Given the description of an element on the screen output the (x, y) to click on. 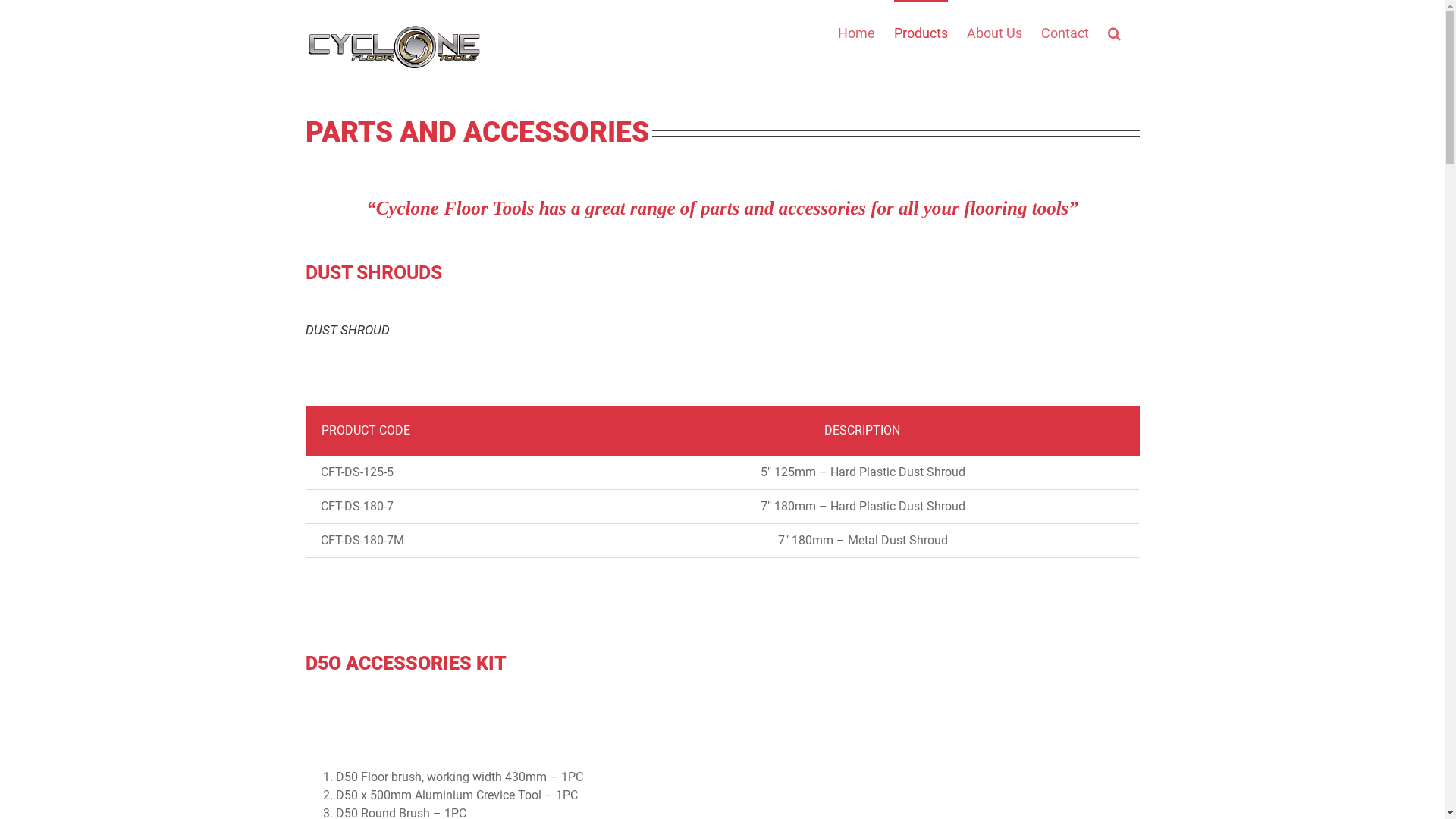
Search Element type: hover (1113, 31)
Contact Element type: text (1064, 31)
Home Element type: text (855, 31)
About Us Element type: text (993, 31)
D50 floor brush Element type: hover (347, 711)
Products Element type: text (920, 31)
